Given the description of an element on the screen output the (x, y) to click on. 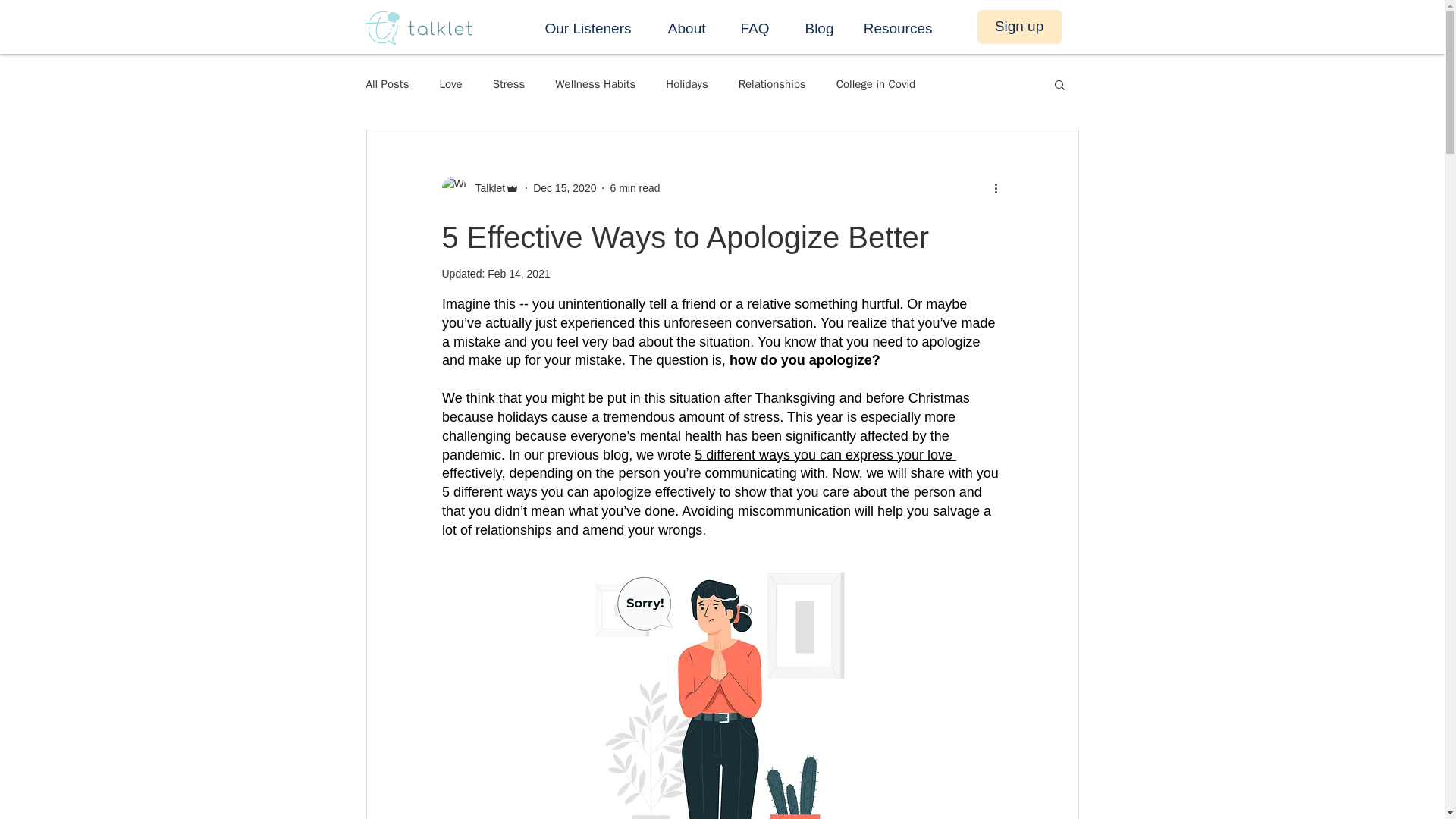
College in Covid (875, 83)
FAQ (748, 28)
Holidays (686, 83)
5 different ways you can express your love effectively (698, 464)
All Posts (387, 83)
Talklet (480, 187)
Love (450, 83)
Our Listeners (581, 28)
Sign up (1018, 26)
Wellness Habits (594, 83)
Talklet (485, 188)
Dec 15, 2020 (563, 187)
Feb 14, 2021 (518, 273)
6 min read (634, 187)
Relationships (772, 83)
